Given the description of an element on the screen output the (x, y) to click on. 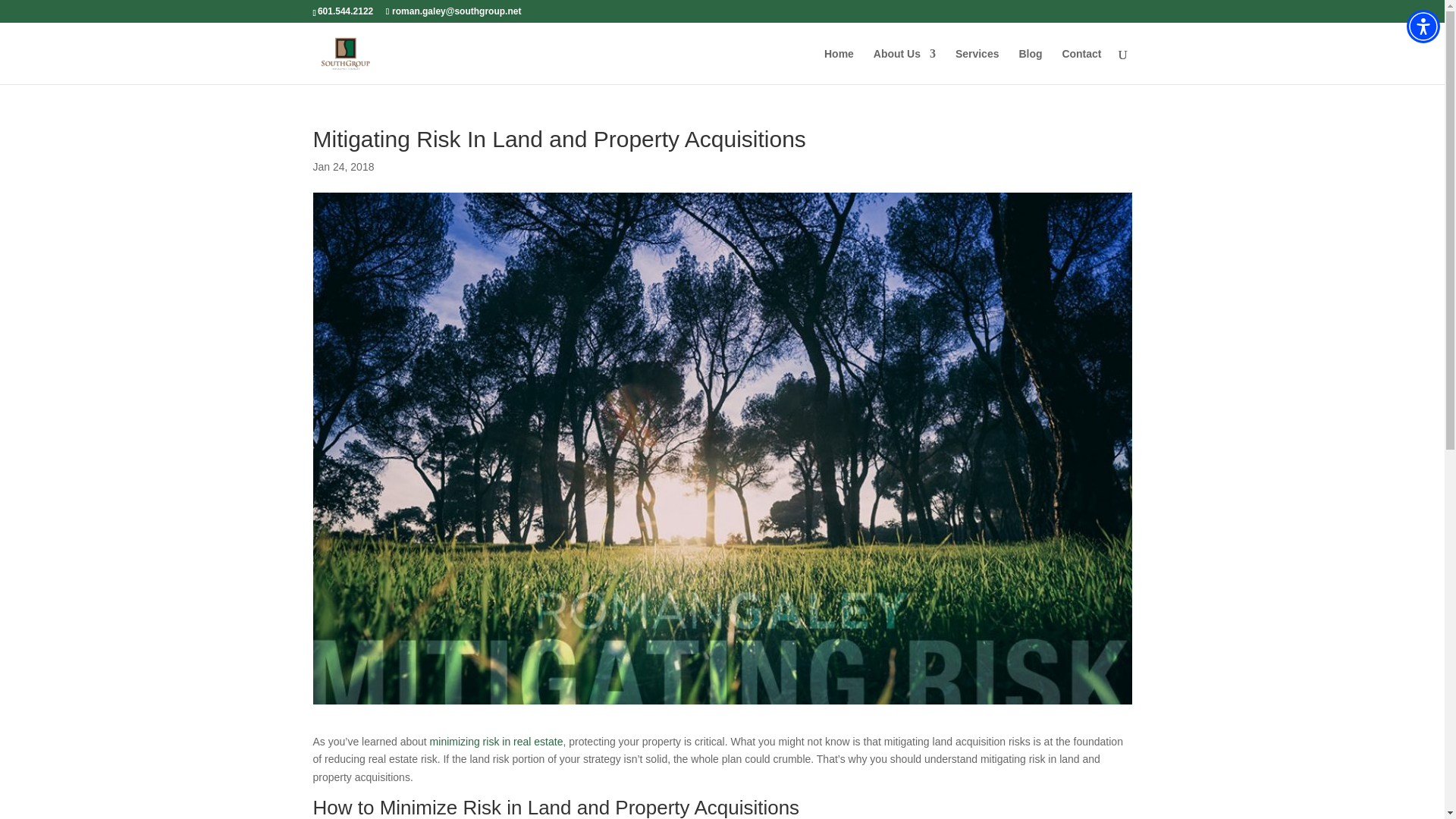
Accessibility Menu (1422, 26)
Home (838, 66)
Blog (1029, 66)
About Us (904, 66)
Services (976, 66)
Contact (1080, 66)
minimizing risk in real estate (496, 741)
